Given the description of an element on the screen output the (x, y) to click on. 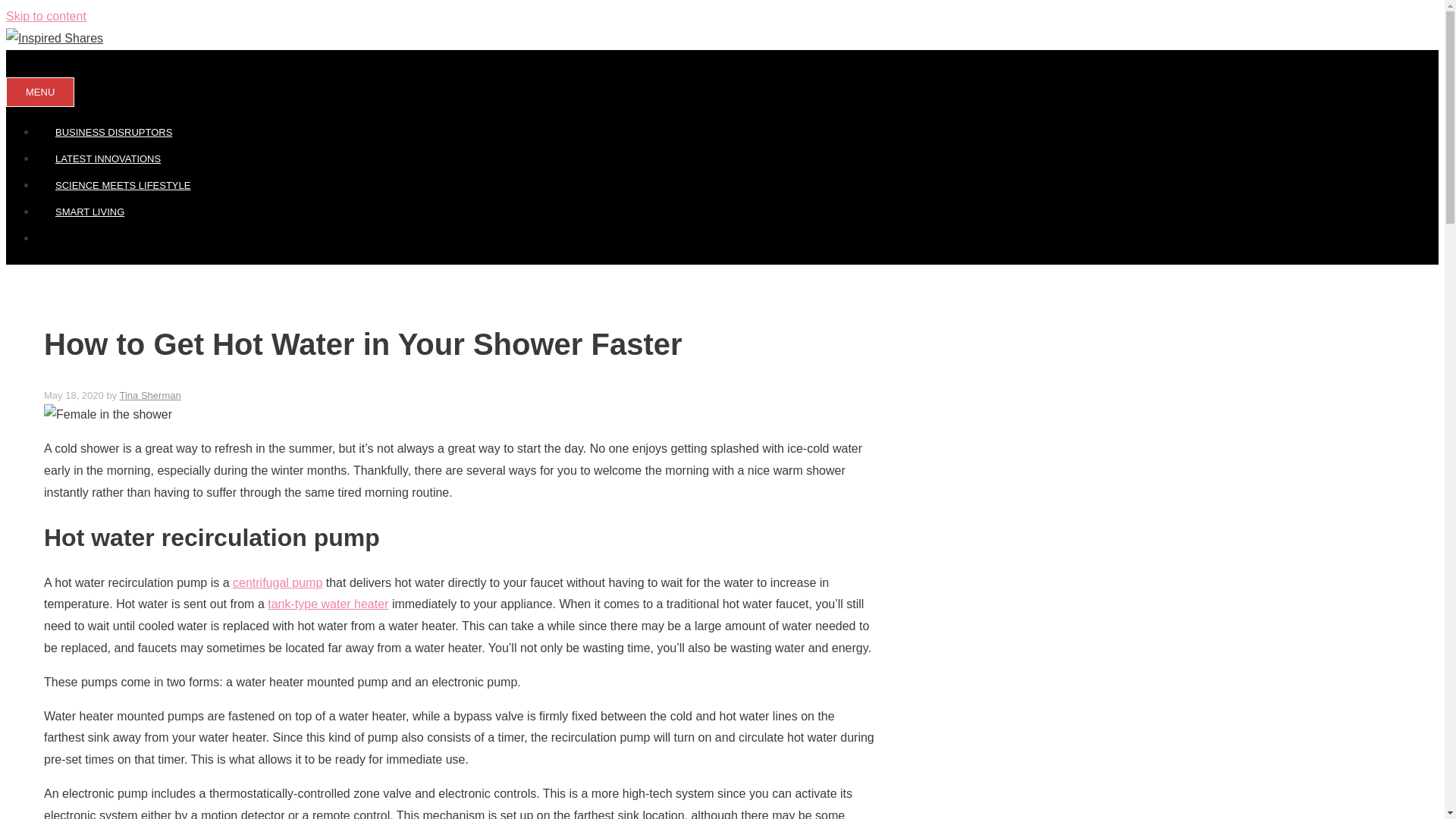
Masterflow Solutions (276, 582)
Skip to content (45, 15)
SMART LIVING (89, 211)
LATEST INNOVATIONS (107, 158)
SCIENCE MEETS LIFESTYLE (122, 184)
MENU (39, 91)
Skip to content (45, 15)
View all posts by Tina Sherman (149, 395)
Tina Sherman (149, 395)
The Spruce (327, 603)
tank-type water heater (327, 603)
BUSINESS DISRUPTORS (113, 132)
centrifugal pump (276, 582)
